Given the description of an element on the screen output the (x, y) to click on. 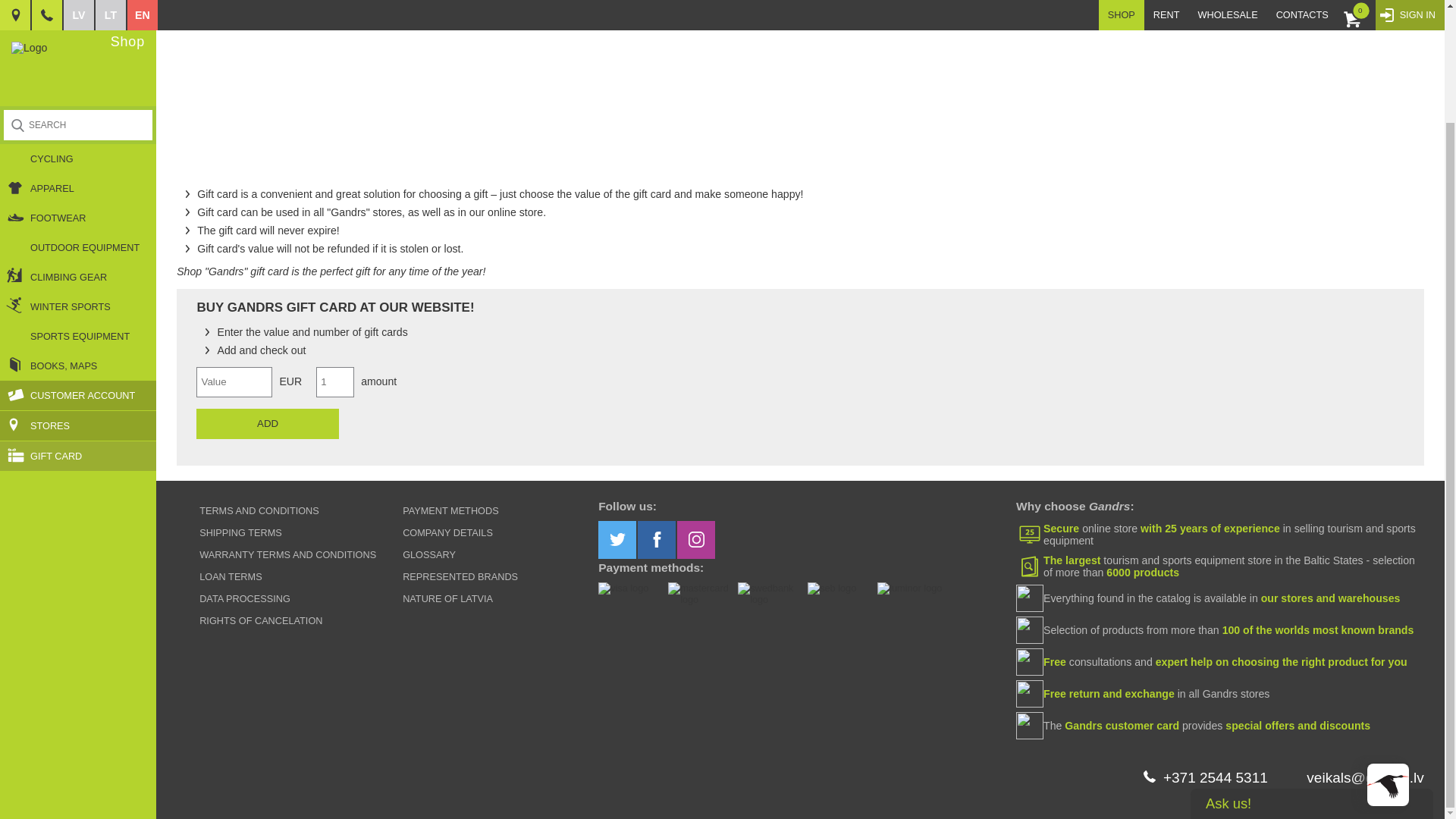
CYCLING (77, 25)
Add (266, 423)
Call us (1215, 777)
Instragram (695, 539)
Twitter (617, 539)
Facebook (656, 539)
